Given the description of an element on the screen output the (x, y) to click on. 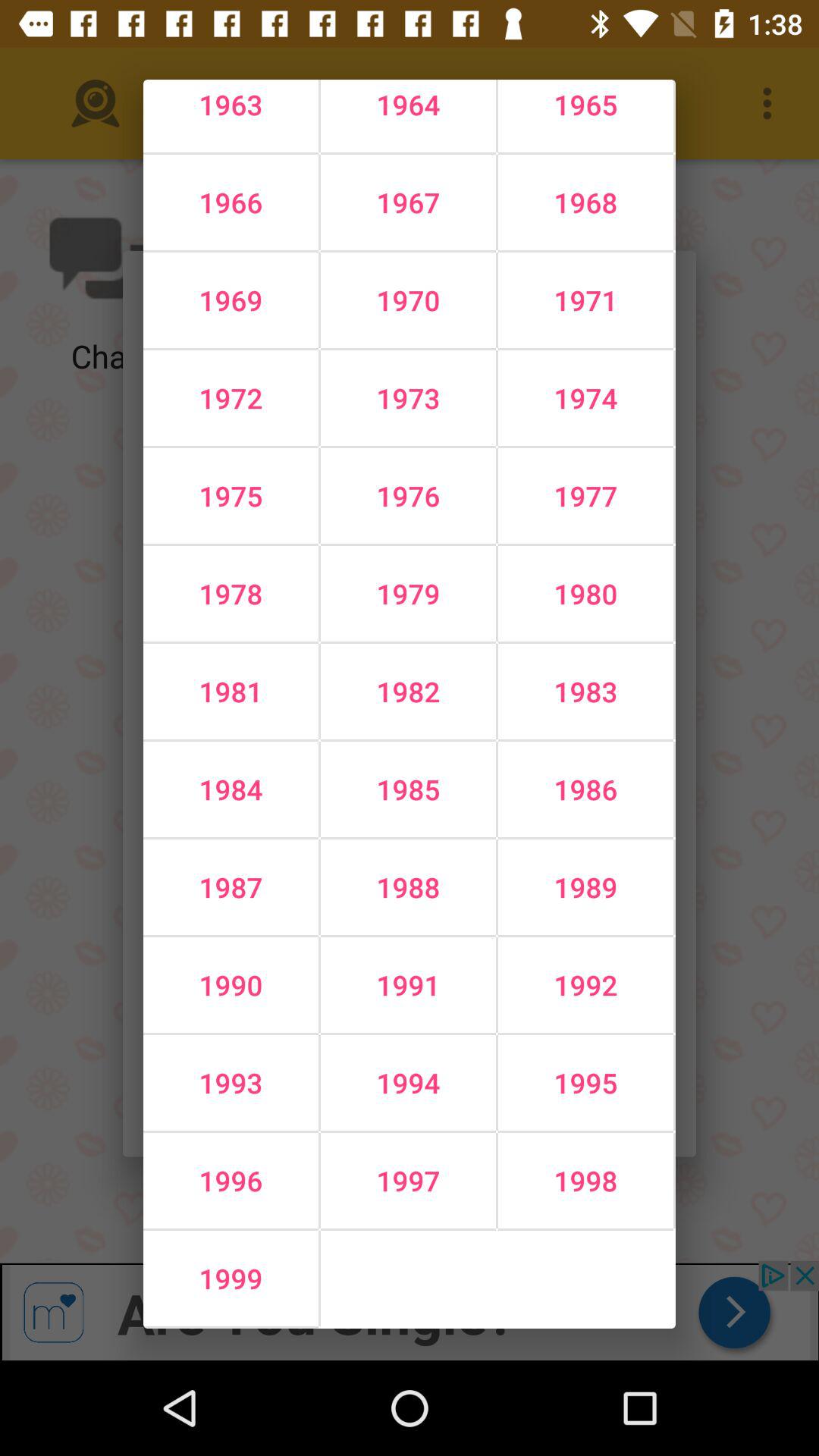
press icon above 1975 (230, 397)
